Given the description of an element on the screen output the (x, y) to click on. 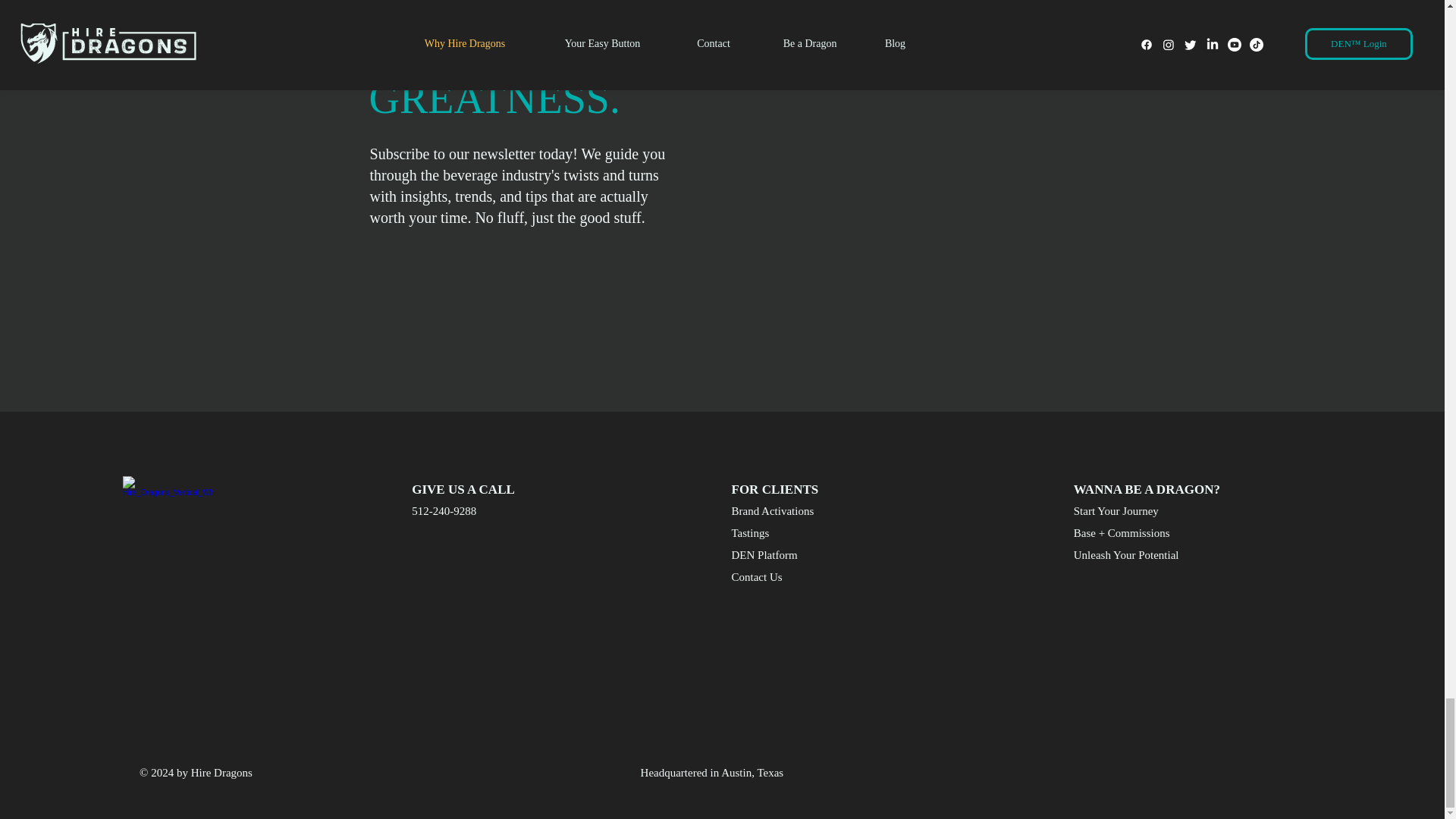
Start Your Journey (1127, 511)
Headquartered in Austin, Texas (712, 772)
512-240-9288 (465, 511)
Brand Activations (784, 511)
Contact Us (784, 577)
Tastings (784, 533)
Unleash Your Potential (1127, 555)
